Given the description of an element on the screen output the (x, y) to click on. 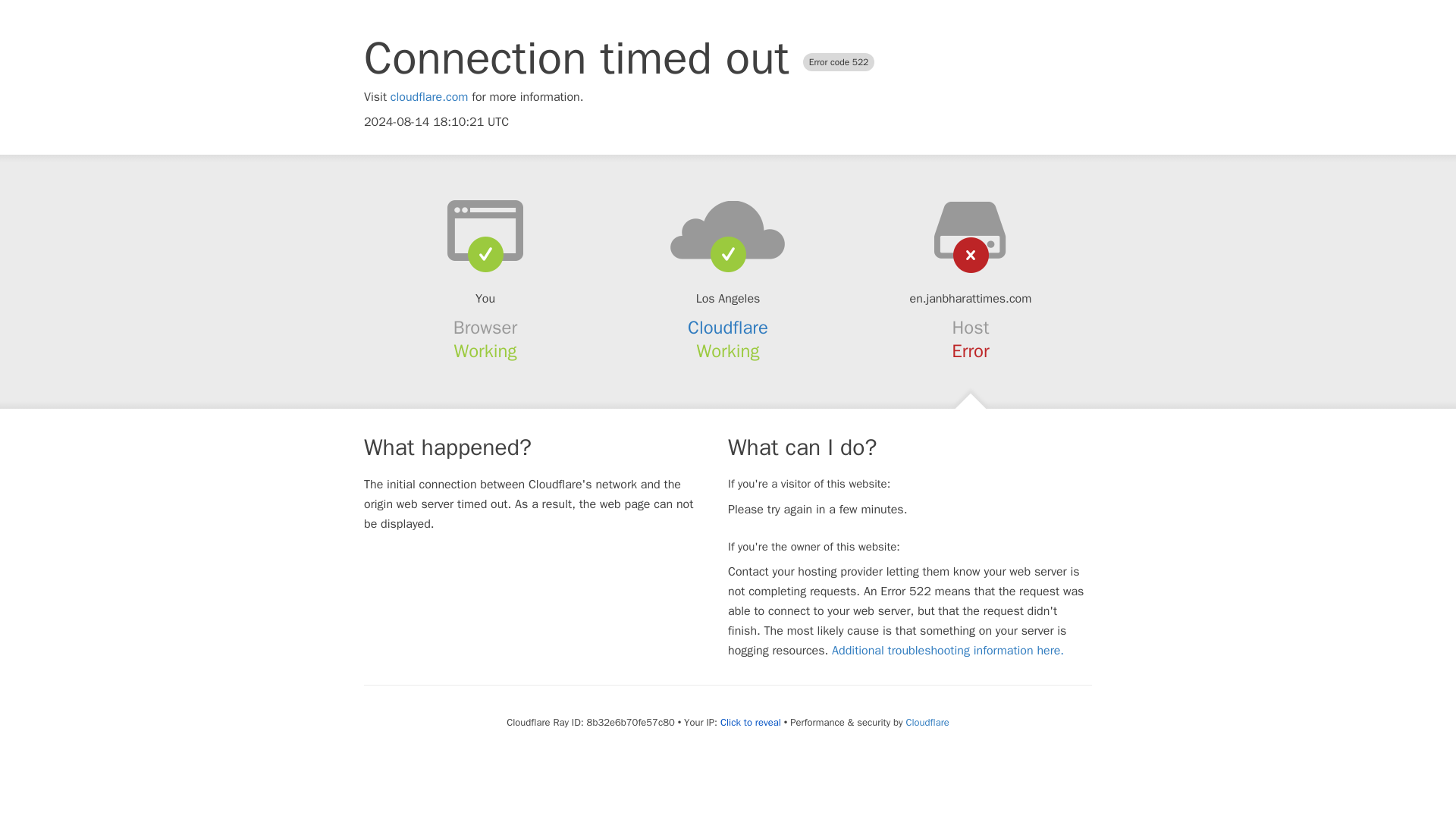
Click to reveal (750, 722)
Additional troubleshooting information here. (947, 650)
Cloudflare (927, 721)
Cloudflare (727, 327)
cloudflare.com (429, 96)
